Given the description of an element on the screen output the (x, y) to click on. 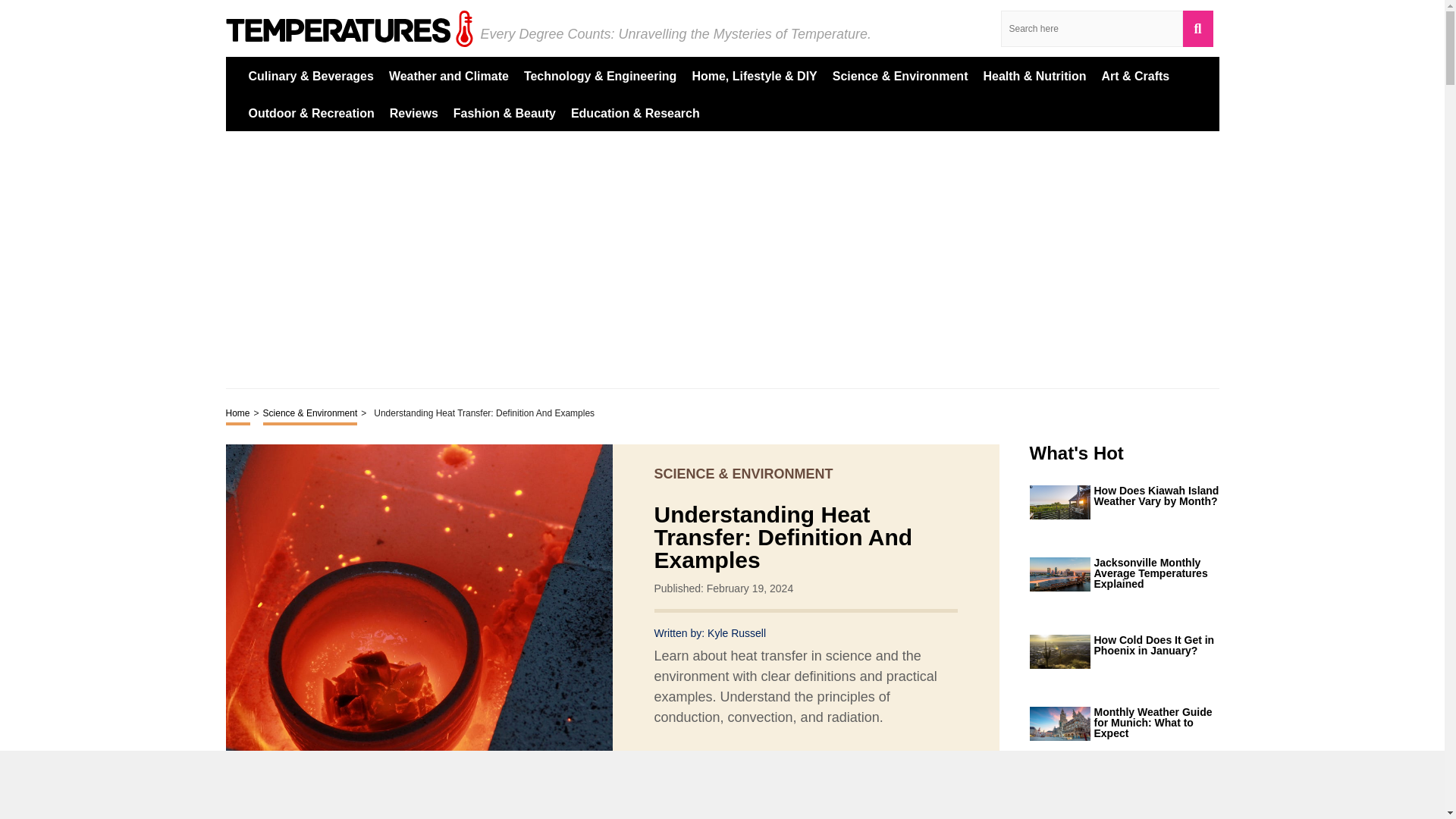
Share on Pinterest (759, 775)
Reviews (414, 112)
Weather and Climate (448, 74)
Share on Facebook (705, 775)
Kyle Russell (736, 633)
Share on WhatsApp (786, 775)
Share on Twitter (732, 776)
Home (237, 414)
